Given the description of an element on the screen output the (x, y) to click on. 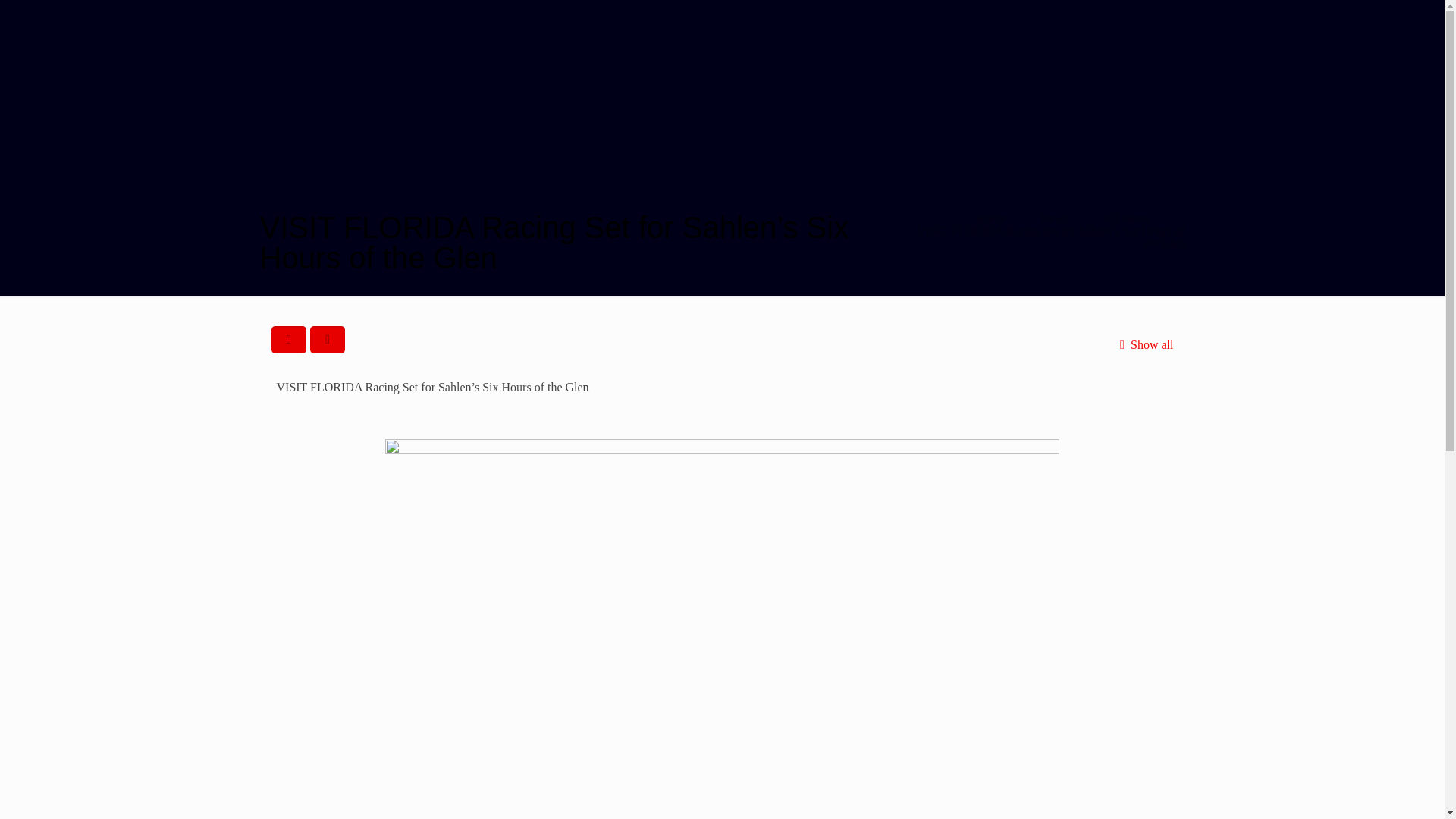
Show all (1143, 344)
News (1054, 218)
Home (990, 218)
All News (1126, 218)
